Given the description of an element on the screen output the (x, y) to click on. 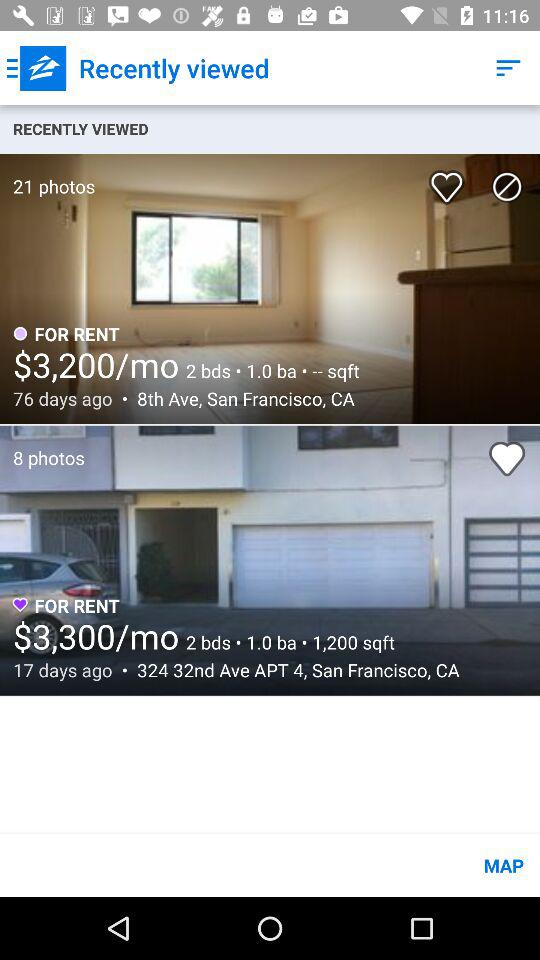
click icon to the right of 17 days ago item (292, 669)
